Given the description of an element on the screen output the (x, y) to click on. 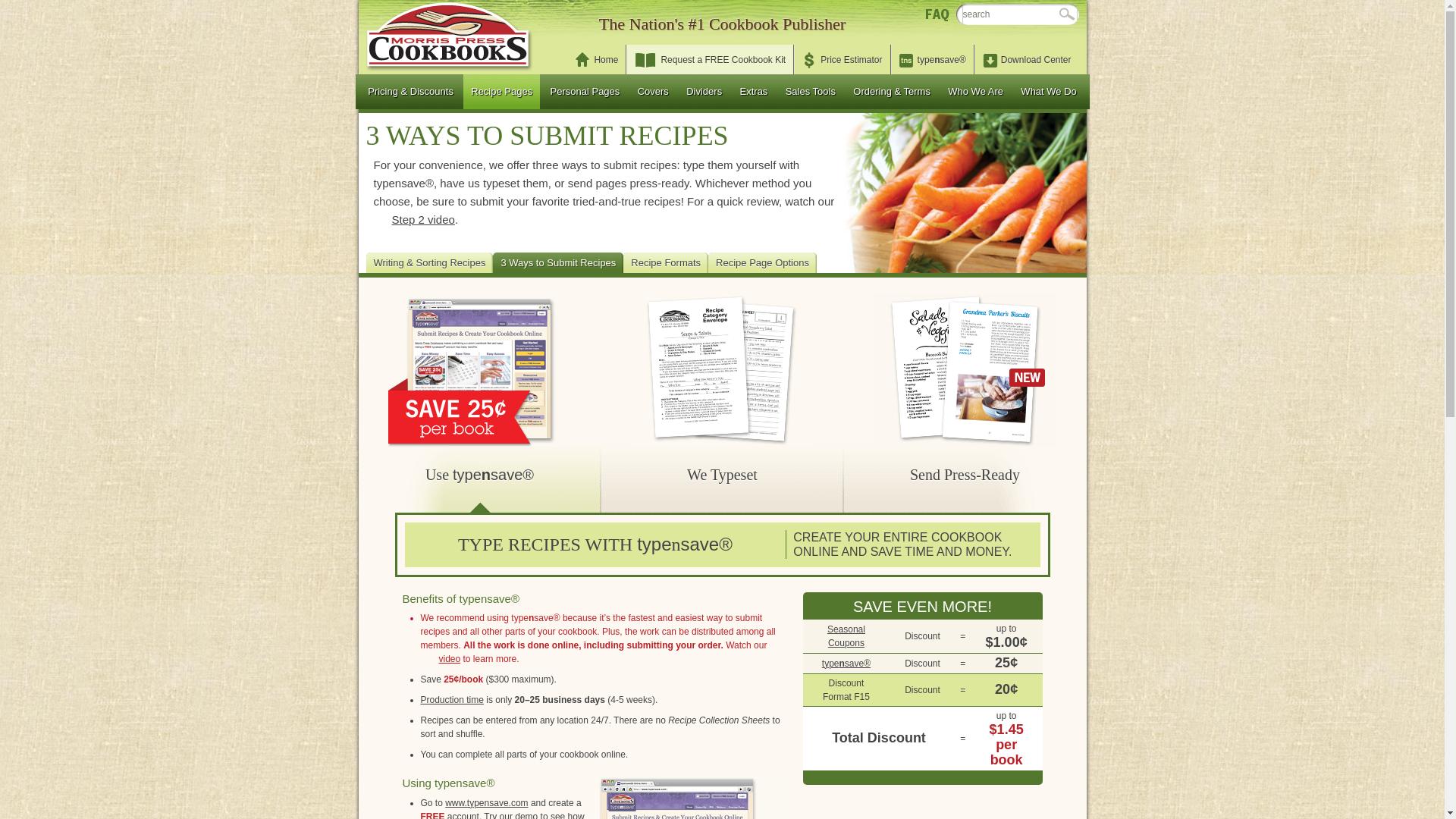
Request a FREE Cookbook Kit (709, 59)
We Typeset (721, 474)
Morris Press Cookbooks (448, 35)
Download Center (1026, 59)
Seasonal Coupons (845, 636)
Price Estimator (841, 59)
Production Time (451, 699)
Recipe Pages (501, 91)
go (1066, 13)
search (1018, 14)
